Given the description of an element on the screen output the (x, y) to click on. 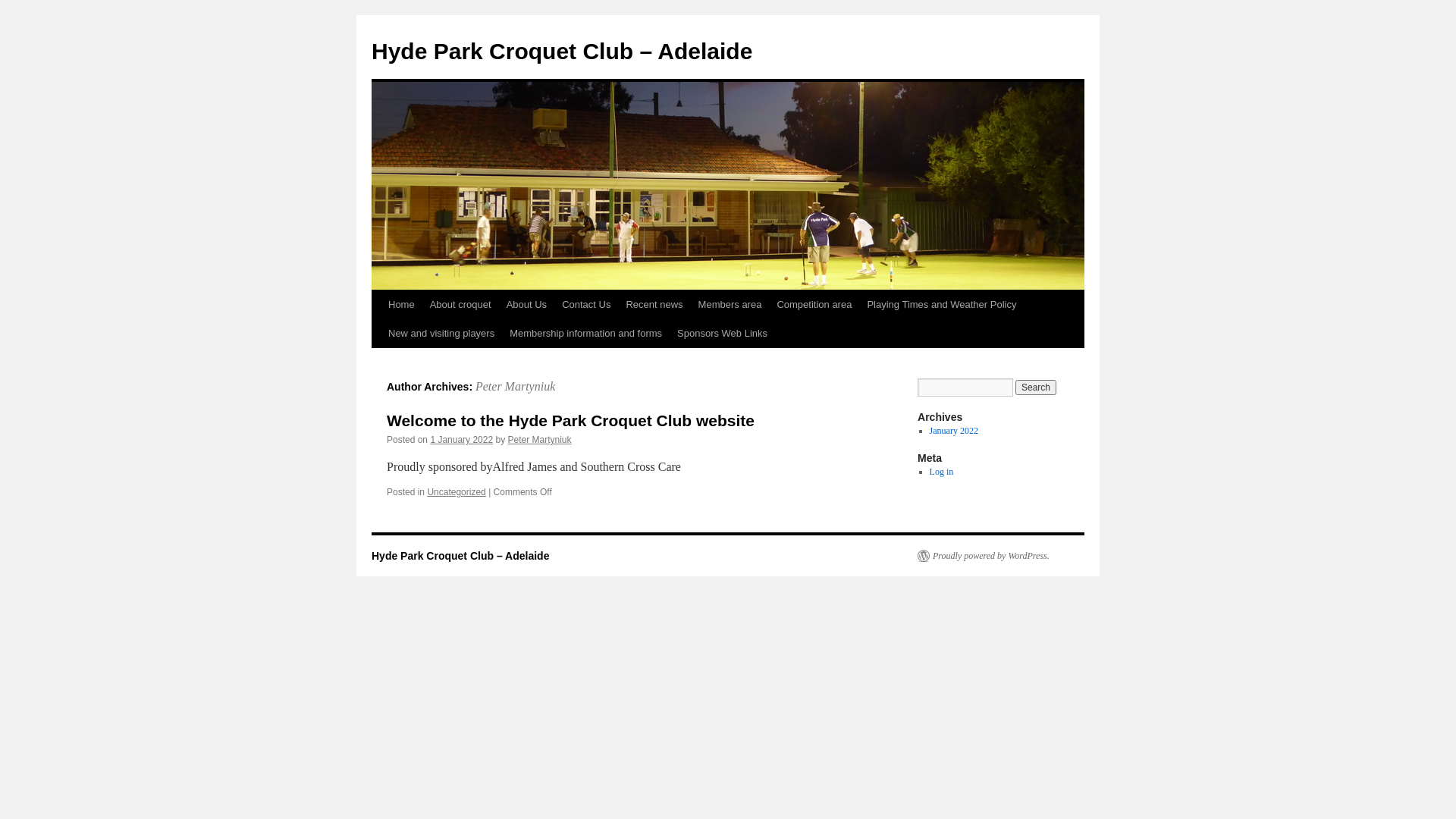
New and visiting players Element type: text (441, 333)
About Us Element type: text (526, 304)
Playing Times and Weather Policy Element type: text (941, 304)
Recent news Element type: text (654, 304)
Uncategorized Element type: text (455, 491)
Peter Martyniuk Element type: text (515, 385)
1 January 2022 Element type: text (460, 439)
Peter Martyniuk Element type: text (539, 439)
Home Element type: text (401, 304)
Welcome to the Hyde Park Croquet Club website Element type: text (570, 420)
Membership information and forms Element type: text (585, 333)
Log in Element type: text (941, 471)
Skip to content Element type: text (377, 332)
Proudly powered by WordPress. Element type: text (983, 555)
About croquet Element type: text (460, 304)
January 2022 Element type: text (953, 430)
Members area Element type: text (729, 304)
Search Element type: text (1035, 387)
Contact Us Element type: text (586, 304)
Sponsors Web Links Element type: text (722, 333)
Competition area Element type: text (813, 304)
